Given the description of an element on the screen output the (x, y) to click on. 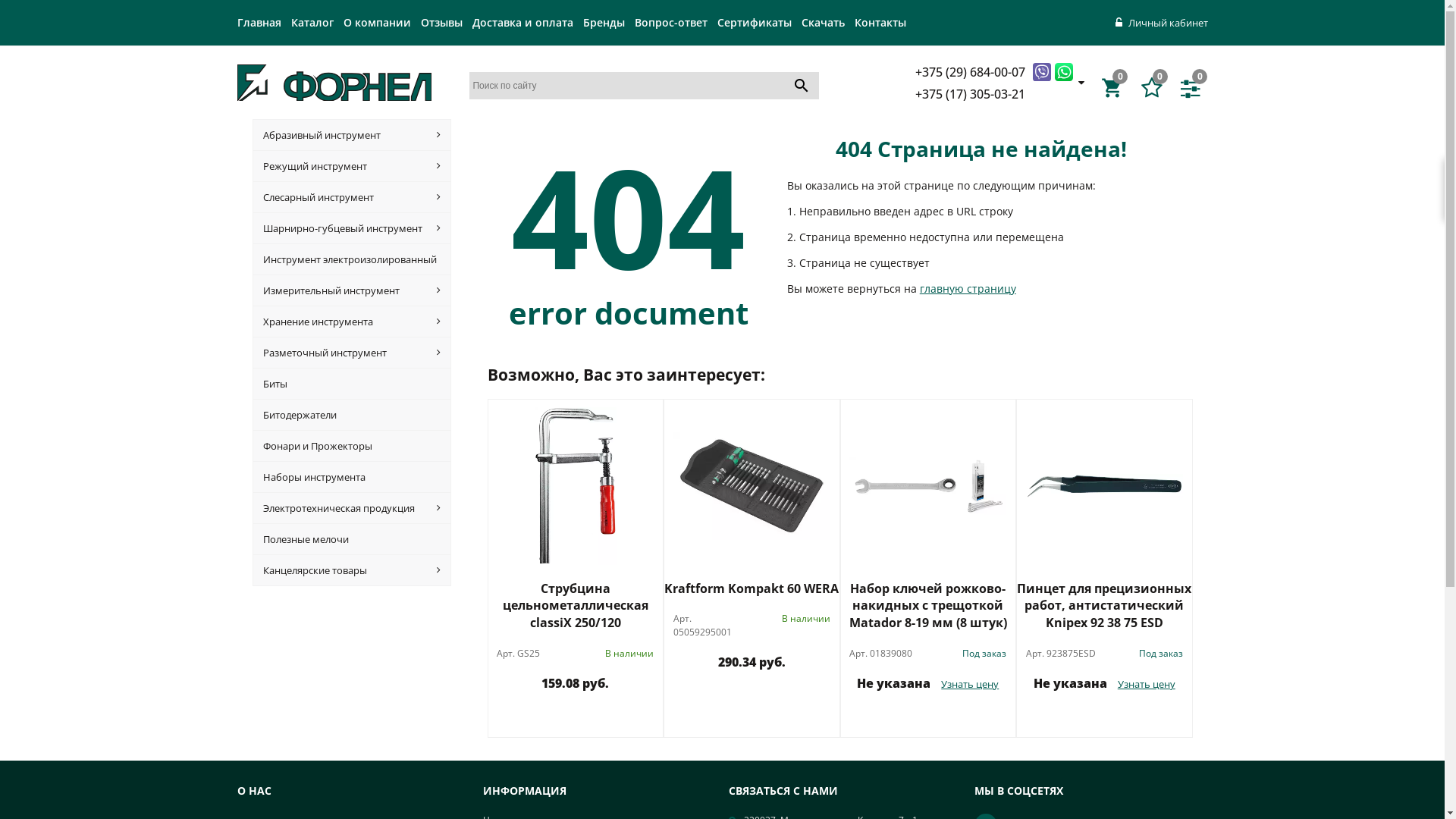
search Element type: text (801, 84)
+375 (29) 684-00-07 Element type: text (972, 71)
+375 (17) 305-03-21 Element type: text (972, 93)
Kraftform Kompakt 60 WERA Element type: text (751, 588)
local_grocery_store
0 Element type: text (1114, 87)
